Given the description of an element on the screen output the (x, y) to click on. 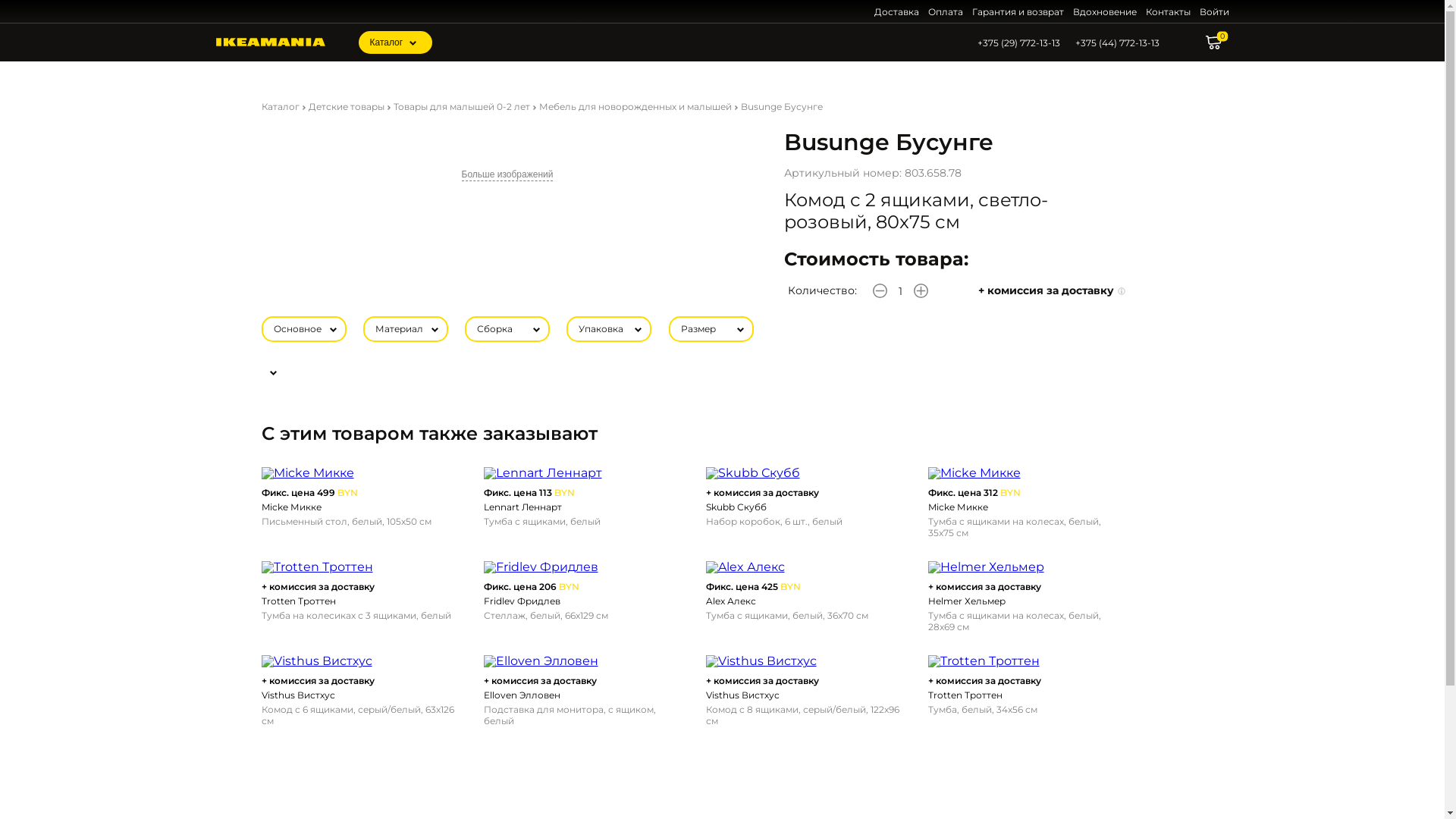
+375 (29) 772-13-13 Element type: text (1017, 41)
0 Element type: text (1217, 42)
+375 (44) 772-13-13 Element type: text (1117, 41)
